Given the description of an element on the screen output the (x, y) to click on. 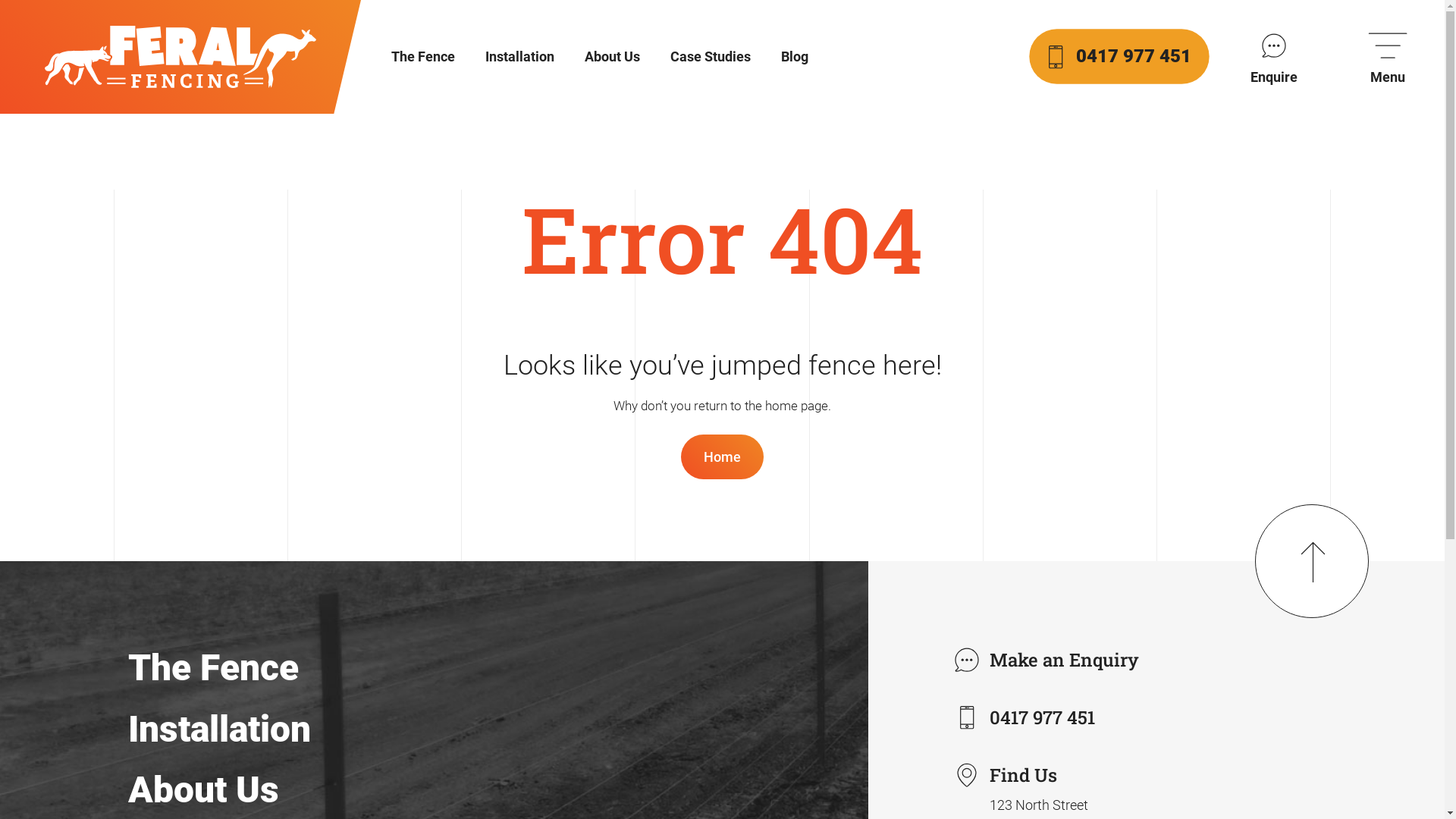
Installation Element type: text (219, 728)
Blog Element type: text (794, 56)
Feral Fencing Element type: hover (180, 56)
The Fence Element type: text (423, 56)
About Us Element type: text (612, 56)
Installation Element type: text (519, 56)
Case Studies Element type: text (710, 56)
Make an Enquiry Element type: text (1050, 659)
0417 977 451 Element type: text (1119, 56)
Menu Element type: text (1387, 56)
Home Element type: text (721, 457)
The Fence Element type: text (213, 667)
Enquire Element type: text (1273, 56)
Scroll to top Element type: hover (1311, 561)
0417 977 451 Element type: text (1028, 717)
